Given the description of an element on the screen output the (x, y) to click on. 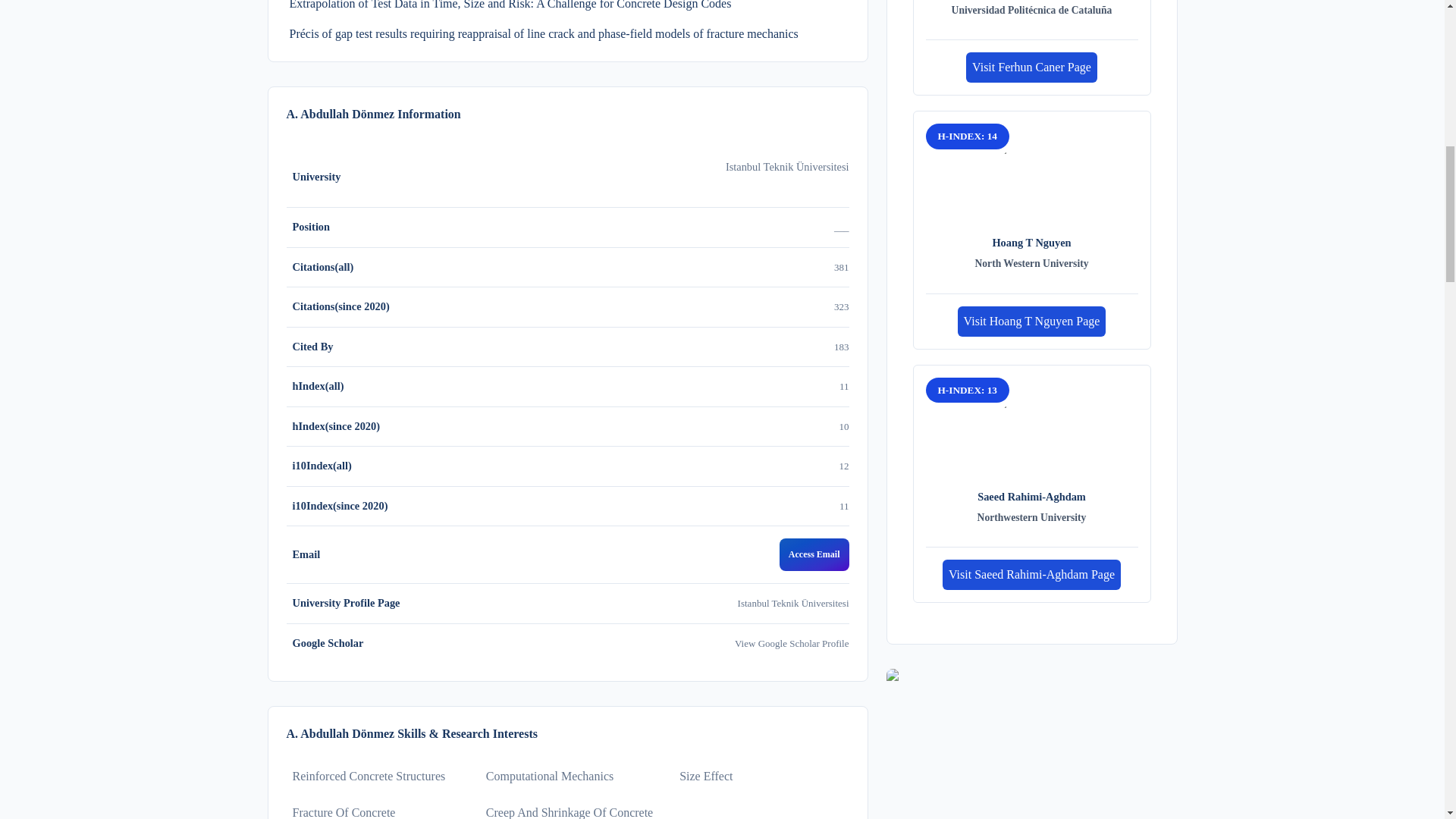
View Google Scholar Profile (791, 643)
Access Email (813, 554)
